Given the description of an element on the screen output the (x, y) to click on. 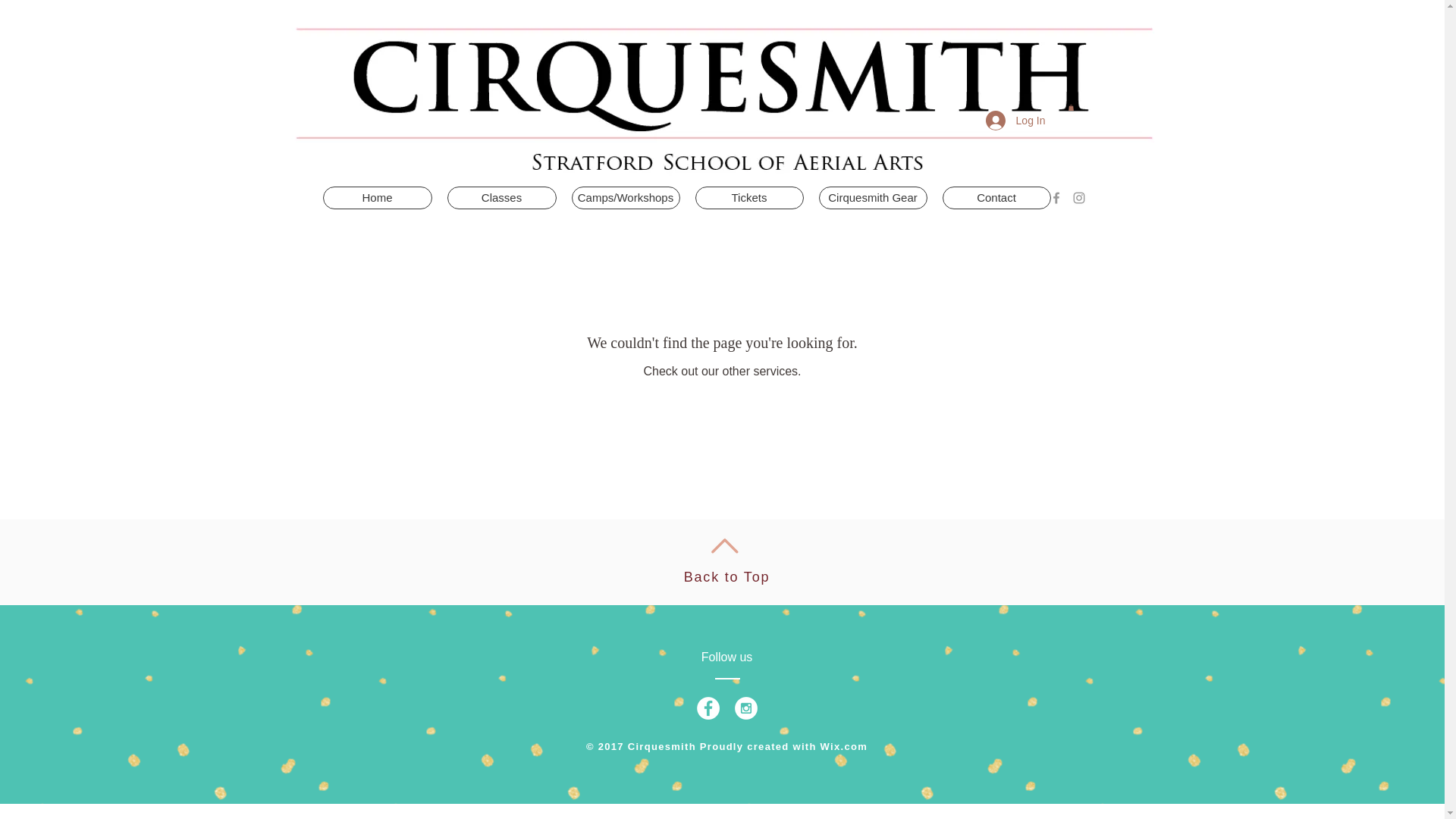
Tickets (748, 197)
Classes (501, 197)
Contact (995, 197)
Log In (1016, 120)
Cirquesmith Gear (872, 197)
Wix.com (844, 746)
Home (377, 197)
Back to Top (727, 576)
